Given the description of an element on the screen output the (x, y) to click on. 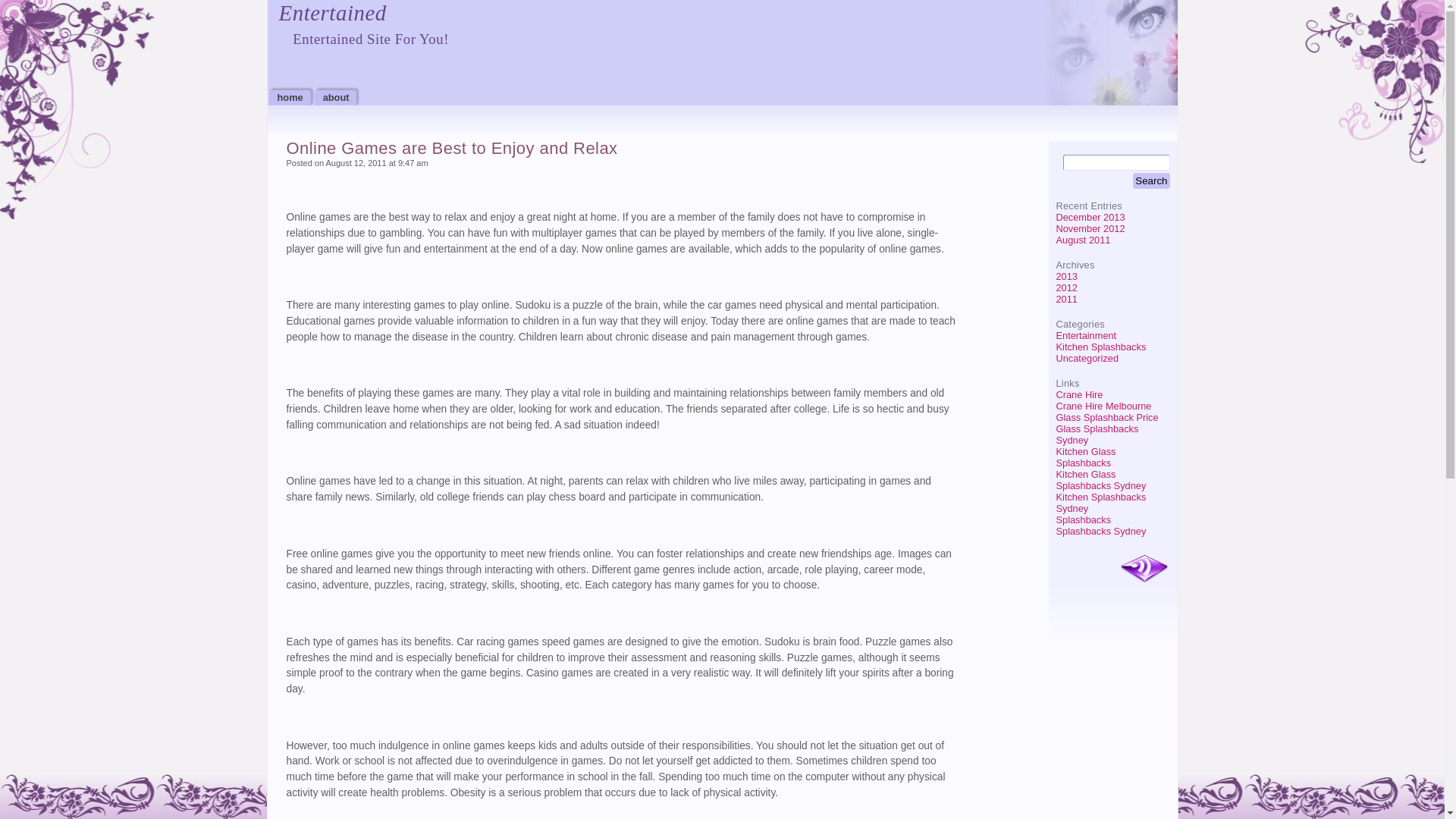
Glass Splashbacks Sydney Element type: text (1096, 434)
Entertainment Element type: text (1085, 335)
Kitchen Glass Splashbacks Element type: text (1085, 456)
November 2012 Element type: text (1089, 228)
Kitchen Splashbacks Element type: text (1100, 346)
Splashbacks Sydney Element type: text (1100, 530)
2011 Element type: text (1065, 298)
Glass Splashback Price Element type: text (1106, 417)
2013 Element type: text (1065, 276)
August 2011 Element type: text (1082, 239)
December 2013 Element type: text (1089, 216)
Entertained Element type: text (332, 12)
Splashbacks Element type: text (1082, 519)
Kitchen Glass Splashbacks Sydney Element type: text (1100, 479)
2012 Element type: text (1065, 287)
Search Element type: text (1150, 180)
Online Games are Best to Enjoy and Relax Element type: text (452, 147)
Uncategorized Element type: text (1086, 358)
Kitchen Splashbacks Sydney Element type: text (1100, 502)
home Element type: text (289, 97)
Crane Hire Element type: text (1078, 394)
about Element type: text (335, 97)
Crane Hire Melbourne Element type: text (1103, 405)
